Given the description of an element on the screen output the (x, y) to click on. 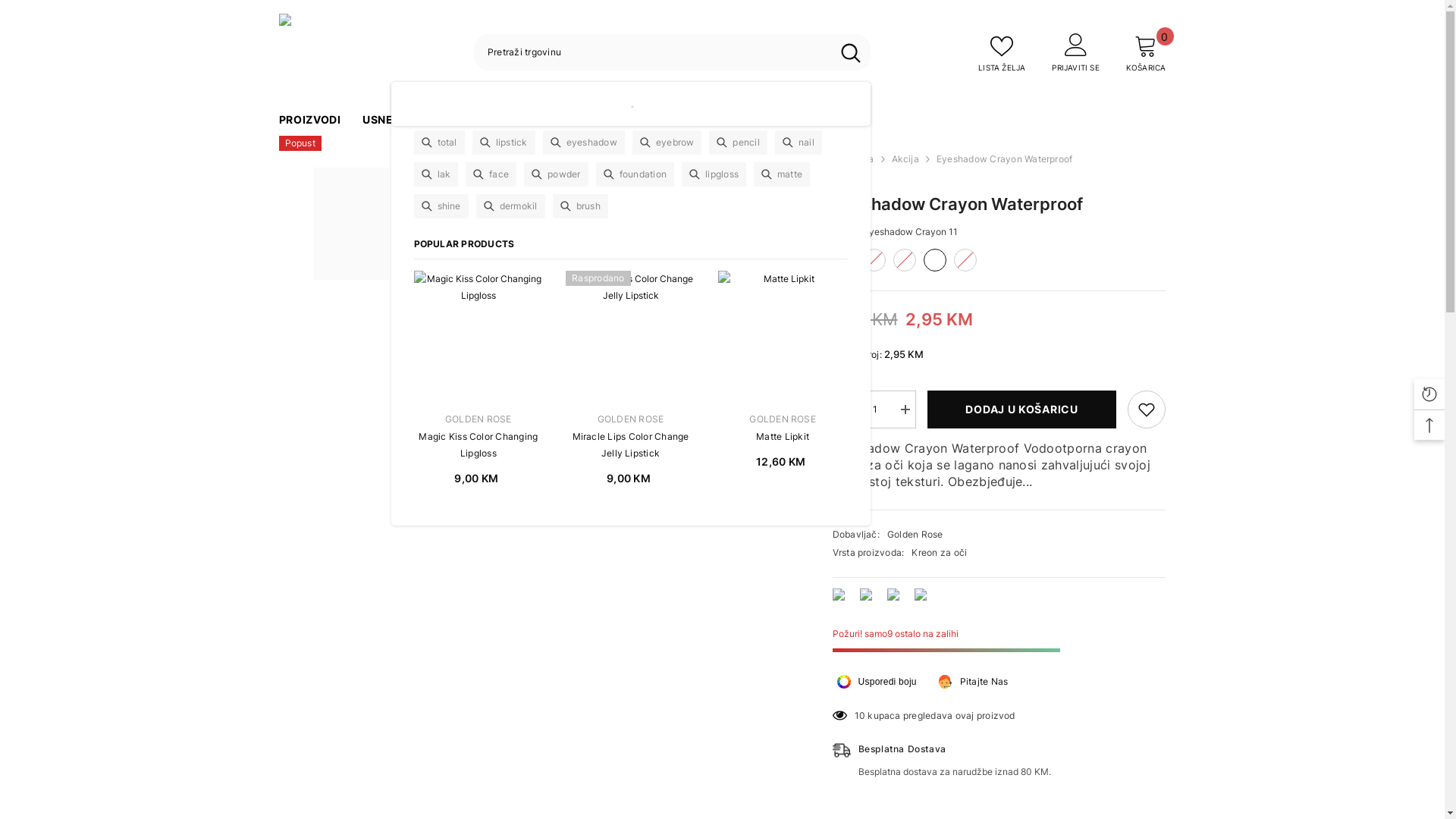
Eyeshadow Crayon Waterproof - Golden Rose BiH Element type: hover (533, 143)
eyeshadow Element type: text (583, 142)
matte Element type: text (781, 174)
Matte Lipkit Element type: hover (782, 334)
Naslovna Element type: text (853, 158)
nail Element type: text (798, 142)
OBRVE Element type: text (476, 123)
Magic Kiss Color Changing Lipgloss Element type: text (478, 444)
lak Element type: text (436, 174)
PROIZVODI Element type: text (309, 123)
face Element type: text (490, 174)
Miracle Lips Color Change Jelly Lipstick Element type: text (630, 444)
brush Element type: text (580, 206)
GOLDEN ROSE Element type: text (478, 418)
NOKTI Element type: text (582, 123)
shine Element type: text (441, 206)
Matte Lipkit Element type: text (782, 436)
pencil Element type: text (737, 142)
foundation Element type: text (635, 174)
Akcija Element type: text (905, 158)
lipstick Element type: text (503, 142)
Miracle Lips Color Change Jelly Lipstick Element type: hover (630, 334)
LICE Element type: text (530, 123)
USNE Element type: text (377, 123)
eyebrow Element type: text (667, 142)
total Element type: text (439, 142)
GOLDEN ROSE Element type: text (782, 418)
Magic Kiss Color Changing Lipgloss Element type: hover (478, 334)
lipgloss Element type: text (713, 174)
powder Element type: text (555, 174)
DODACI Element type: text (644, 123)
Pitajte Nas Element type: text (972, 681)
user
PRIJAVITI SE Element type: text (1074, 52)
Usporedi boju Element type: text (876, 681)
GOLDEN ROSE Element type: text (630, 418)
DERMOKIL Element type: text (718, 123)
dermokil Element type: text (510, 206)
Golden Rose Element type: text (915, 533)
